Given the description of an element on the screen output the (x, y) to click on. 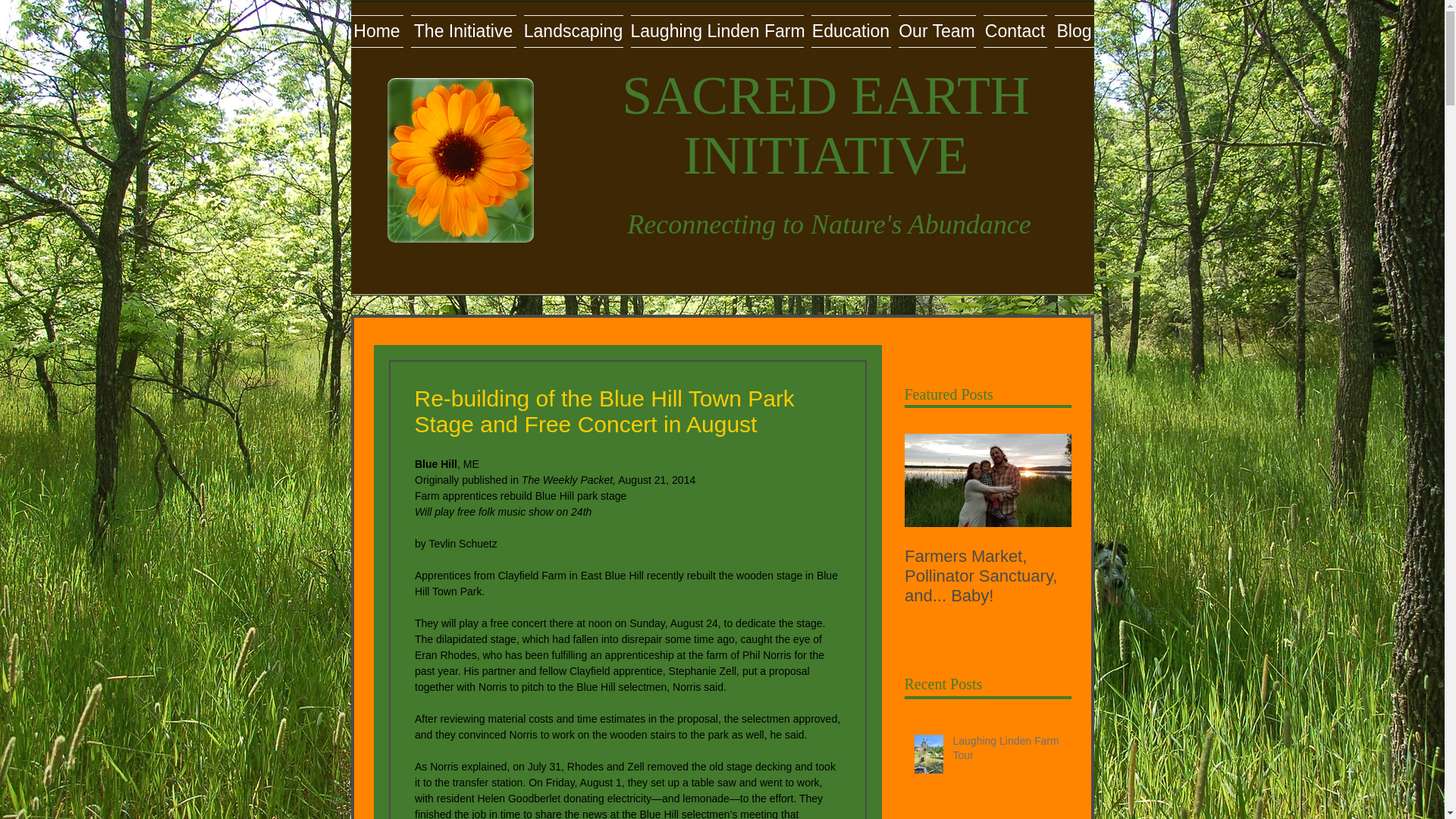
Farmers Market, Pollinator Sanctuary, and... Baby! (987, 576)
Education (849, 31)
Our Team (937, 31)
Home (378, 31)
Landscaping (573, 31)
Contact (1015, 31)
Laughing Linden Farm Tour (1006, 751)
Laughing Linden Farm (716, 31)
The Initiative (462, 31)
Blog (1072, 31)
